Given the description of an element on the screen output the (x, y) to click on. 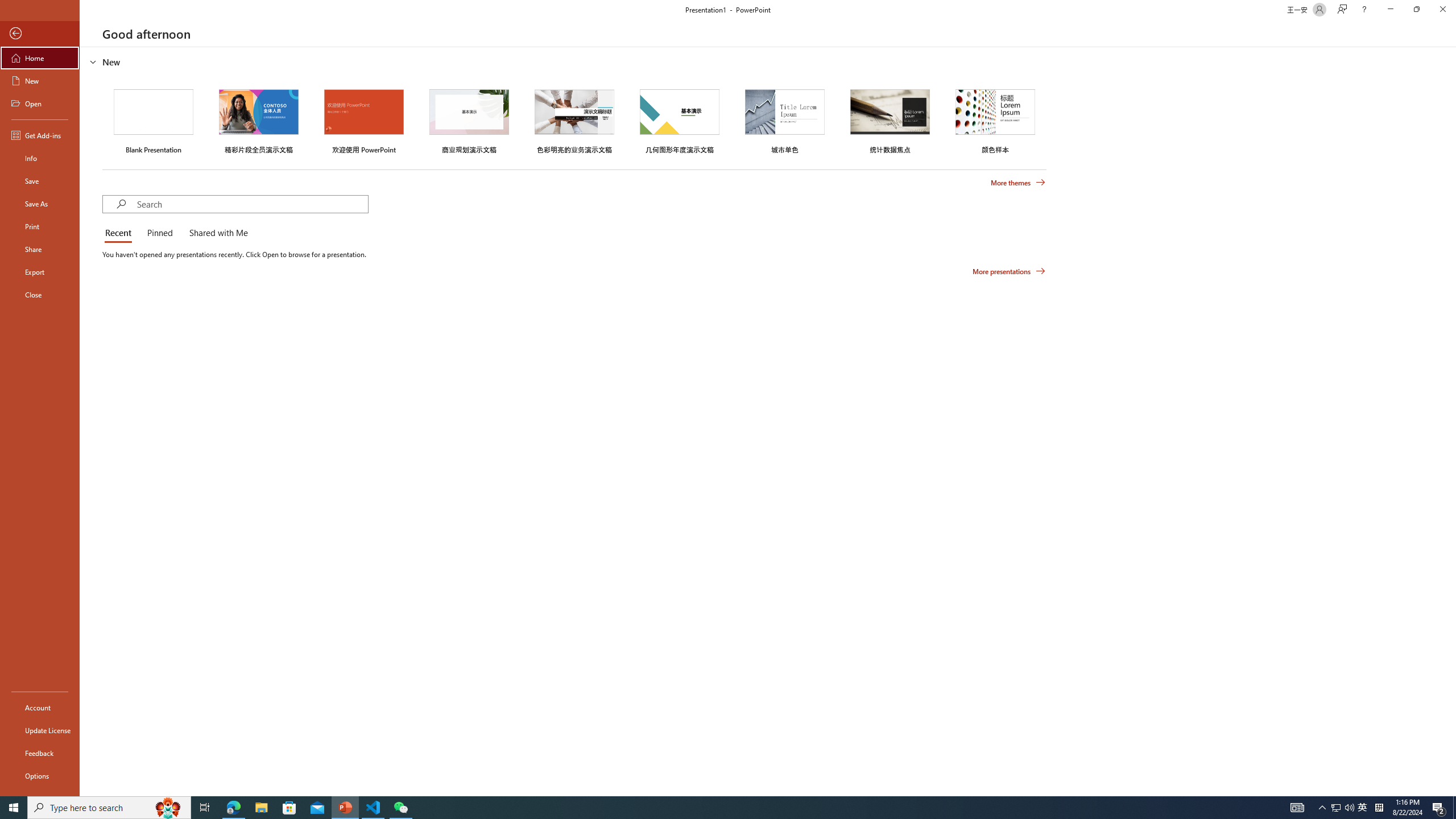
Hide or show region (92, 61)
More themes (1018, 182)
Export (40, 271)
Get Add-ins (40, 134)
Pinned (159, 233)
Update License (40, 730)
Account (40, 707)
